Given the description of an element on the screen output the (x, y) to click on. 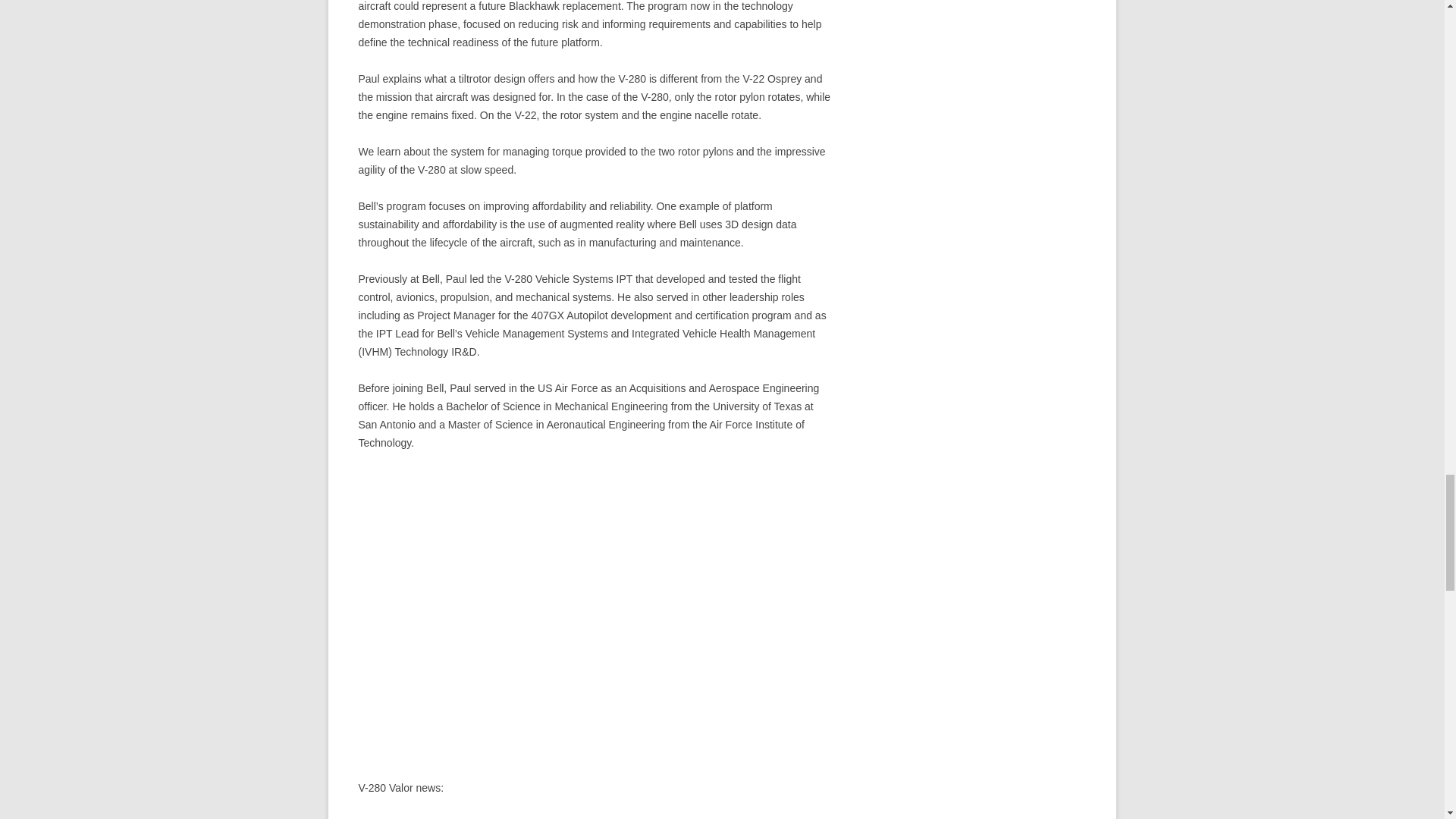
Bell V-280 Valor Multi Domain Operations (594, 603)
